Given the description of an element on the screen output the (x, y) to click on. 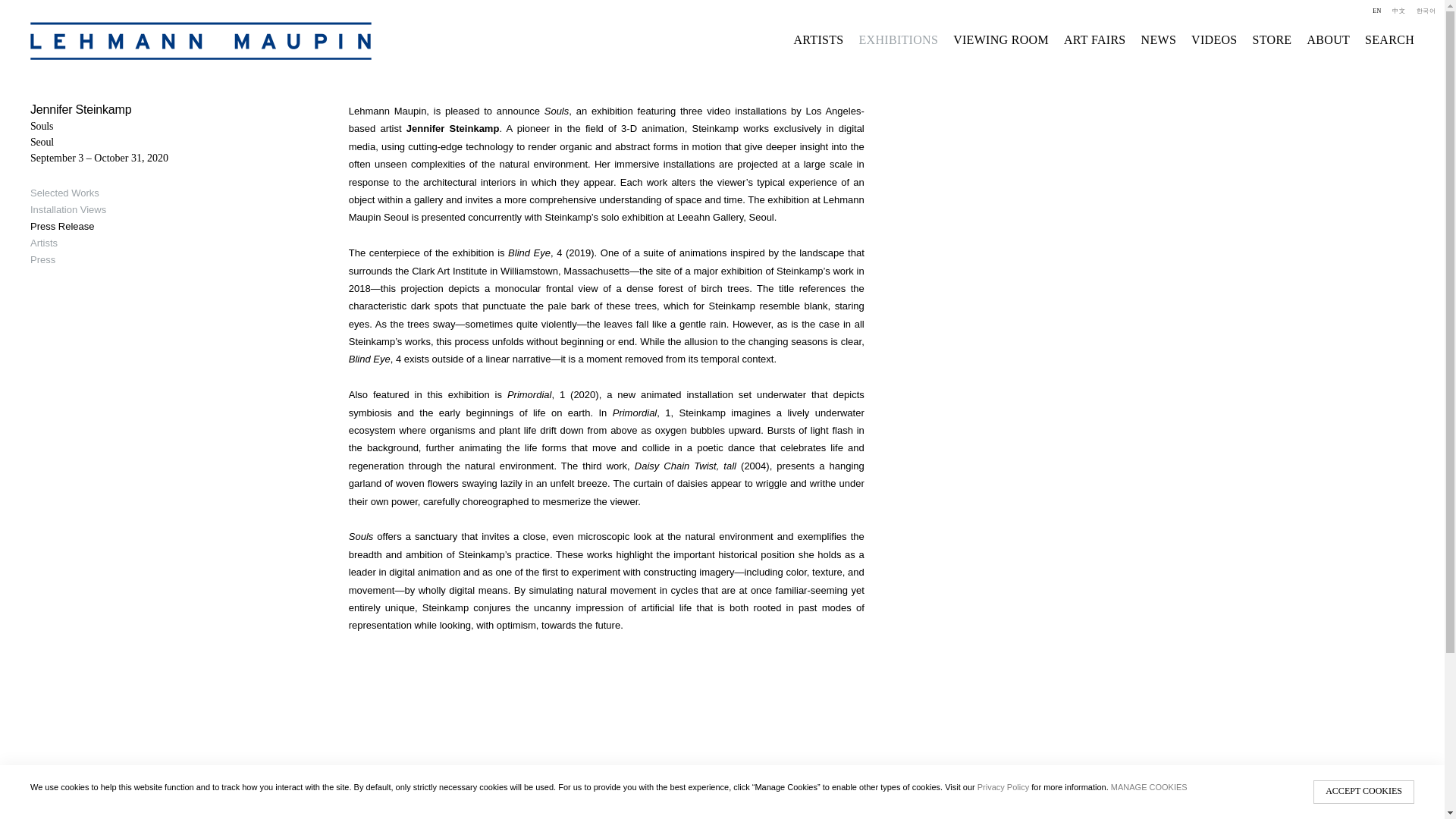
VIDEOS (1213, 39)
Artists (73, 245)
STORE (1272, 39)
Press Release (73, 228)
VIEWING ROOM (1000, 39)
EXHIBITIONS (898, 39)
Installation Views (73, 211)
SEARCH (1389, 39)
EN (1376, 10)
ABOUT (1327, 39)
